Given the description of an element on the screen output the (x, y) to click on. 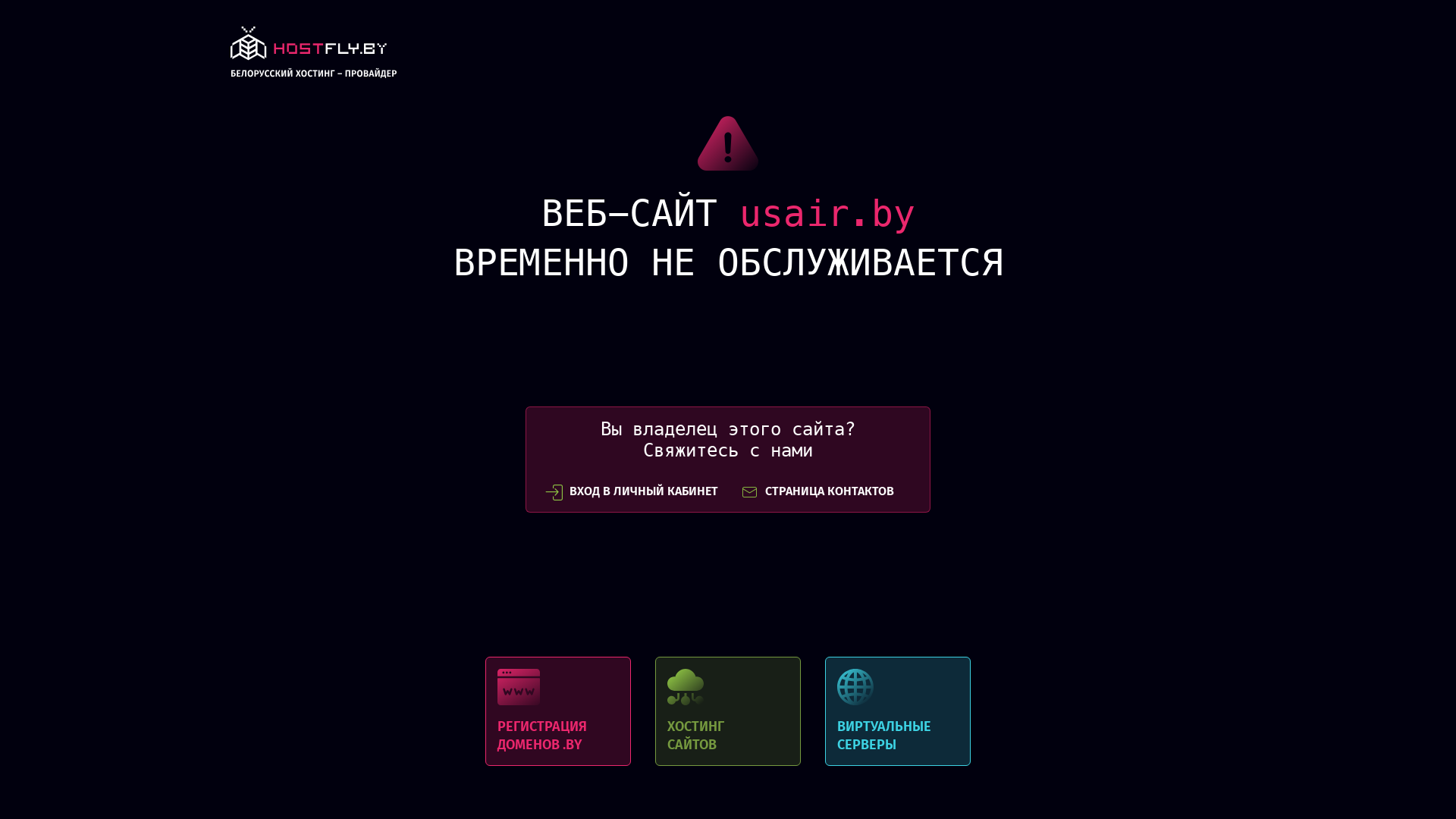
LINK Element type: text (313, 56)
